Given the description of an element on the screen output the (x, y) to click on. 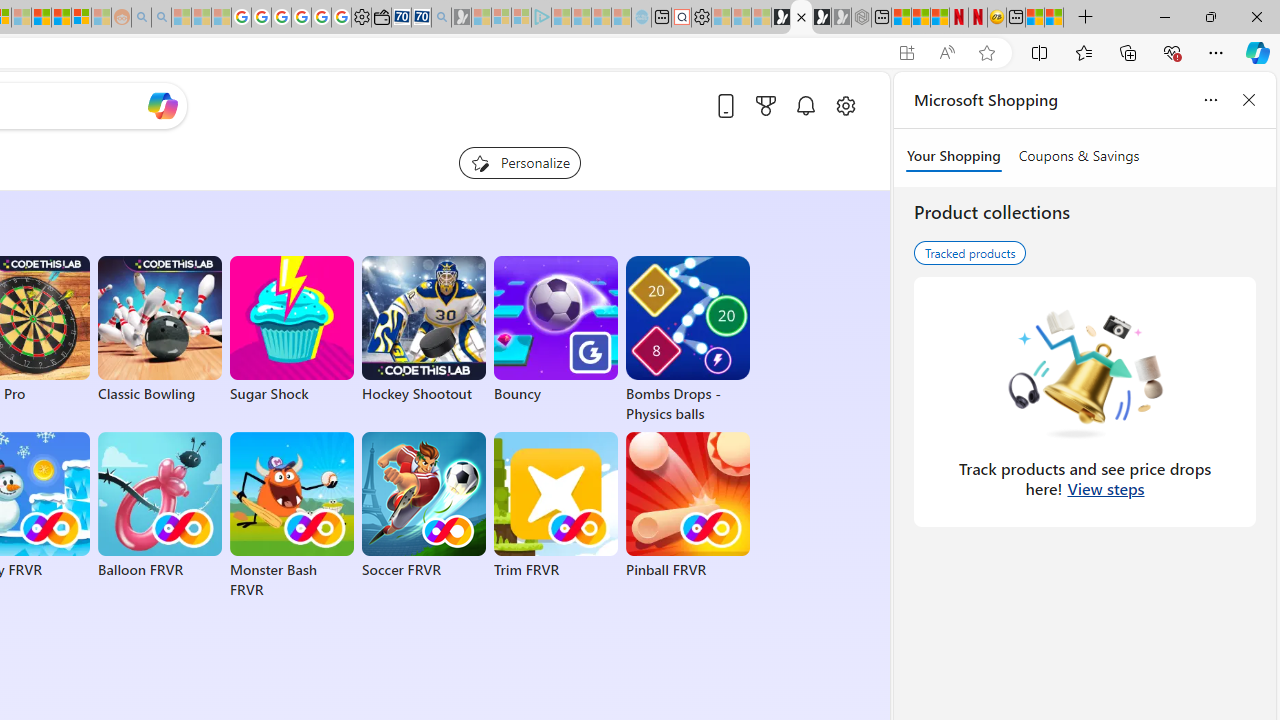
Personalize your feed" (519, 162)
Soccer FRVR (424, 506)
Bombs Drops - Physics balls (687, 340)
Pinball FRVR (687, 506)
